Given the description of an element on the screen output the (x, y) to click on. 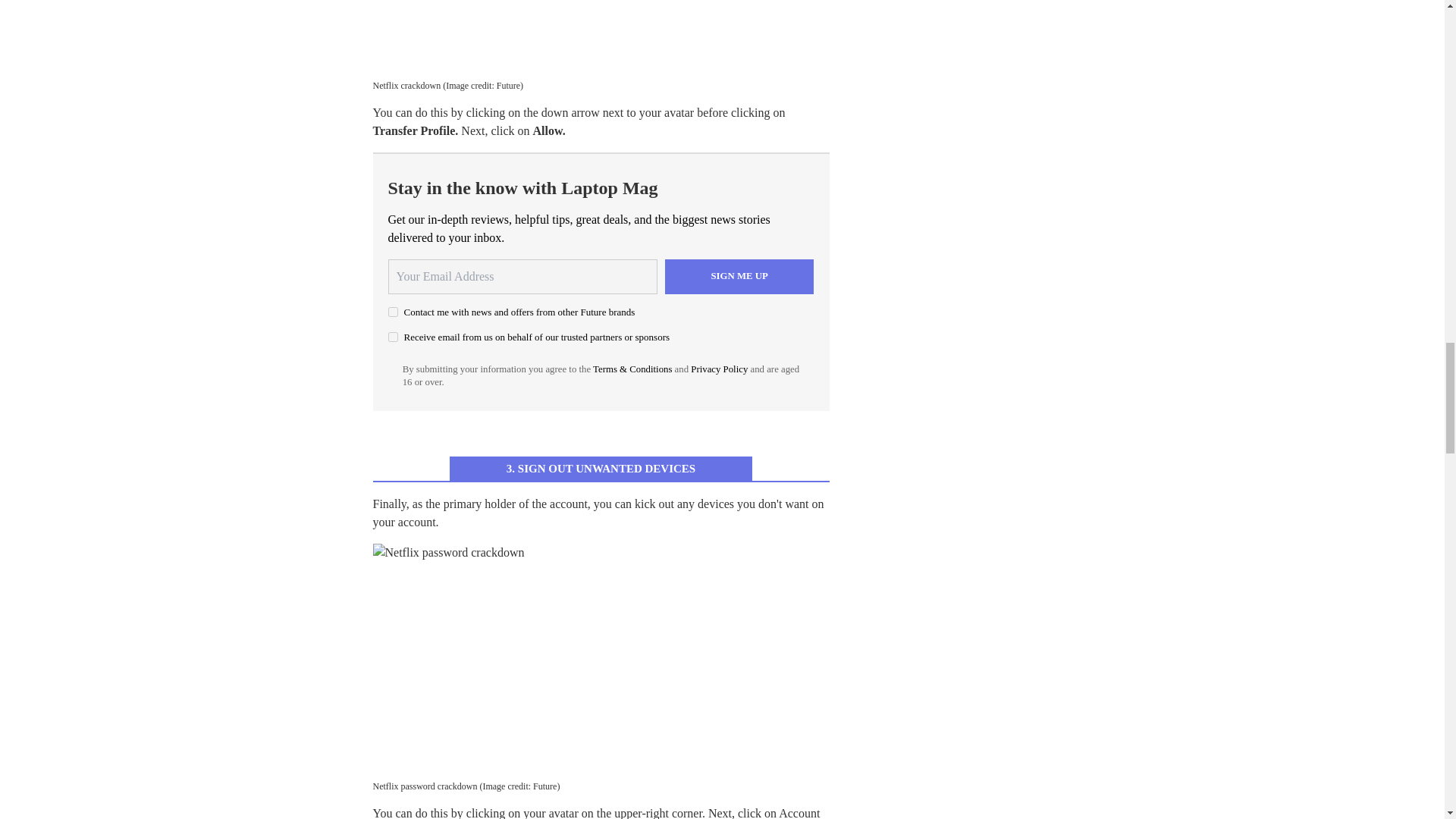
Sign me up (739, 276)
on (392, 337)
on (392, 311)
